Given the description of an element on the screen output the (x, y) to click on. 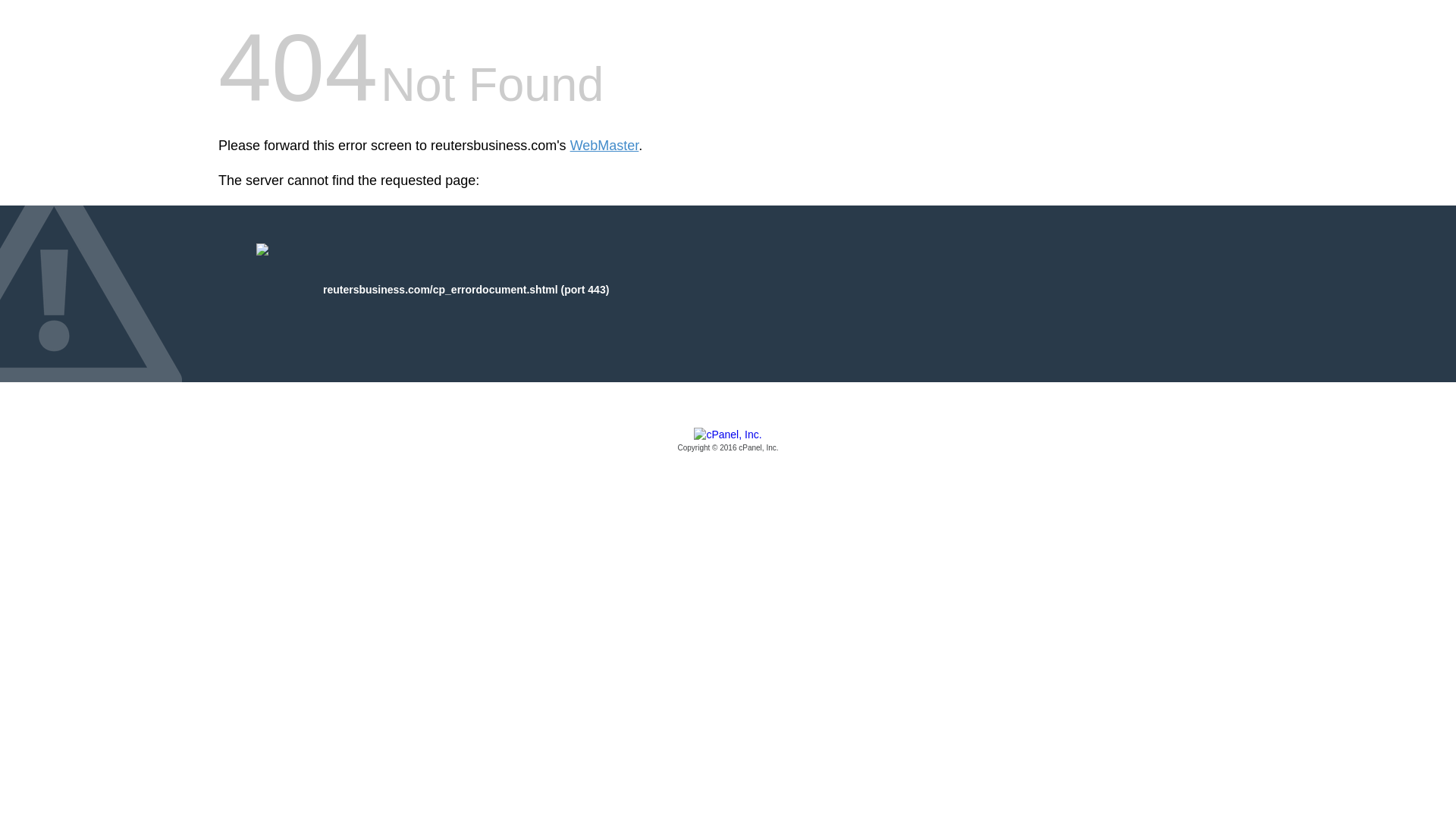
WebMaster (604, 145)
cPanel, Inc. (727, 440)
